Given the description of an element on the screen output the (x, y) to click on. 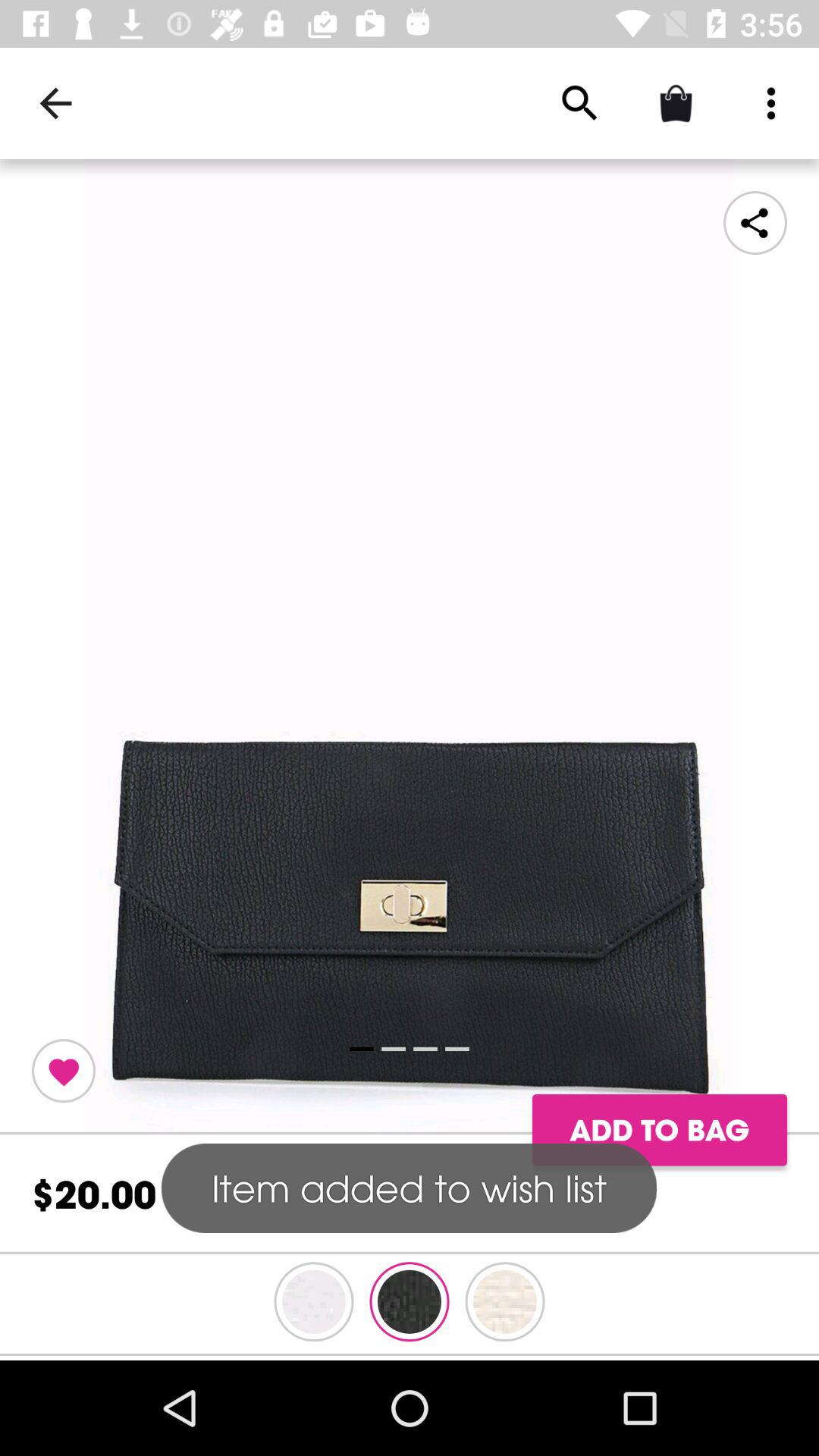
share the article (409, 646)
